Given the description of an element on the screen output the (x, y) to click on. 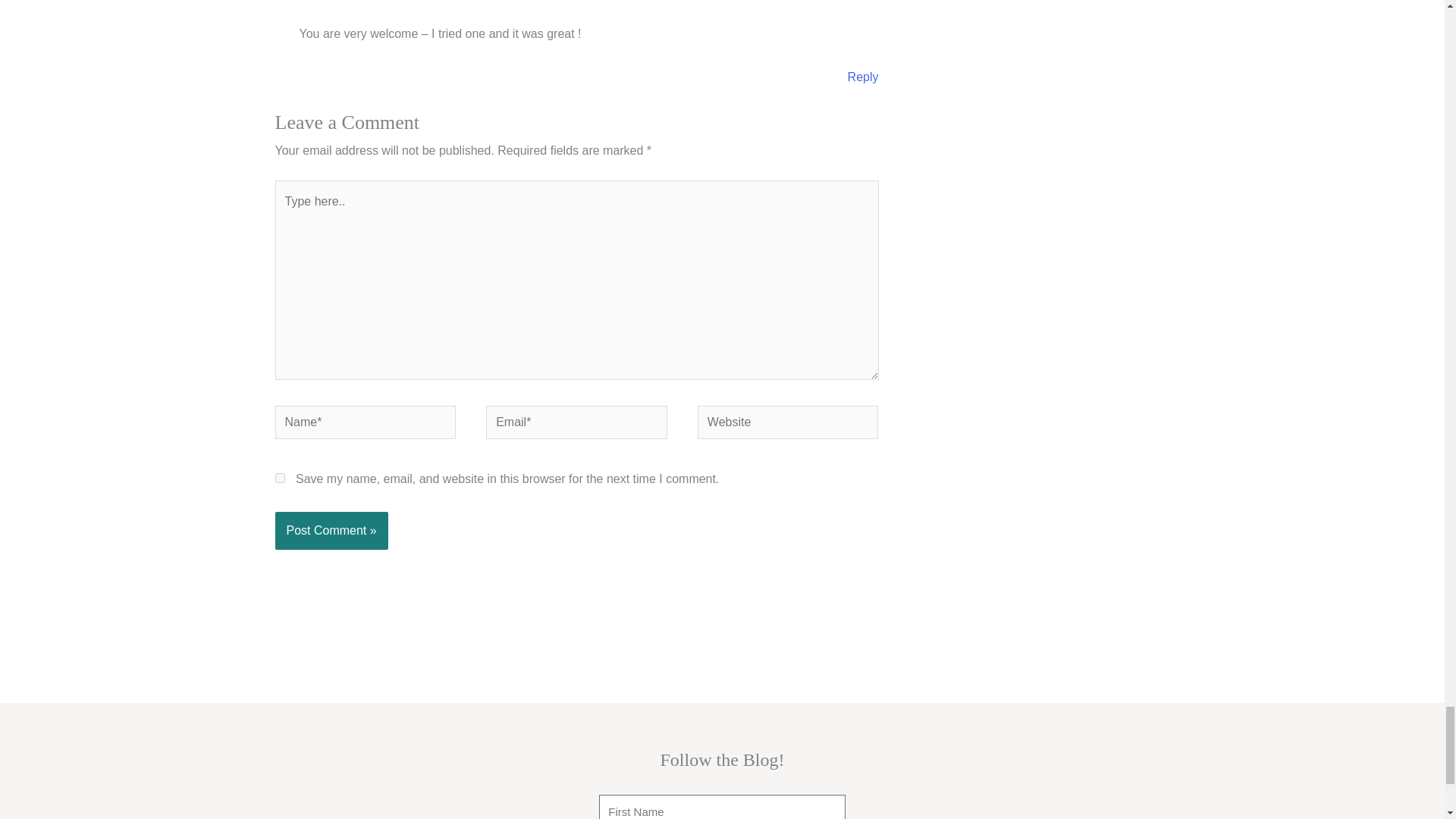
yes (279, 478)
